Given the description of an element on the screen output the (x, y) to click on. 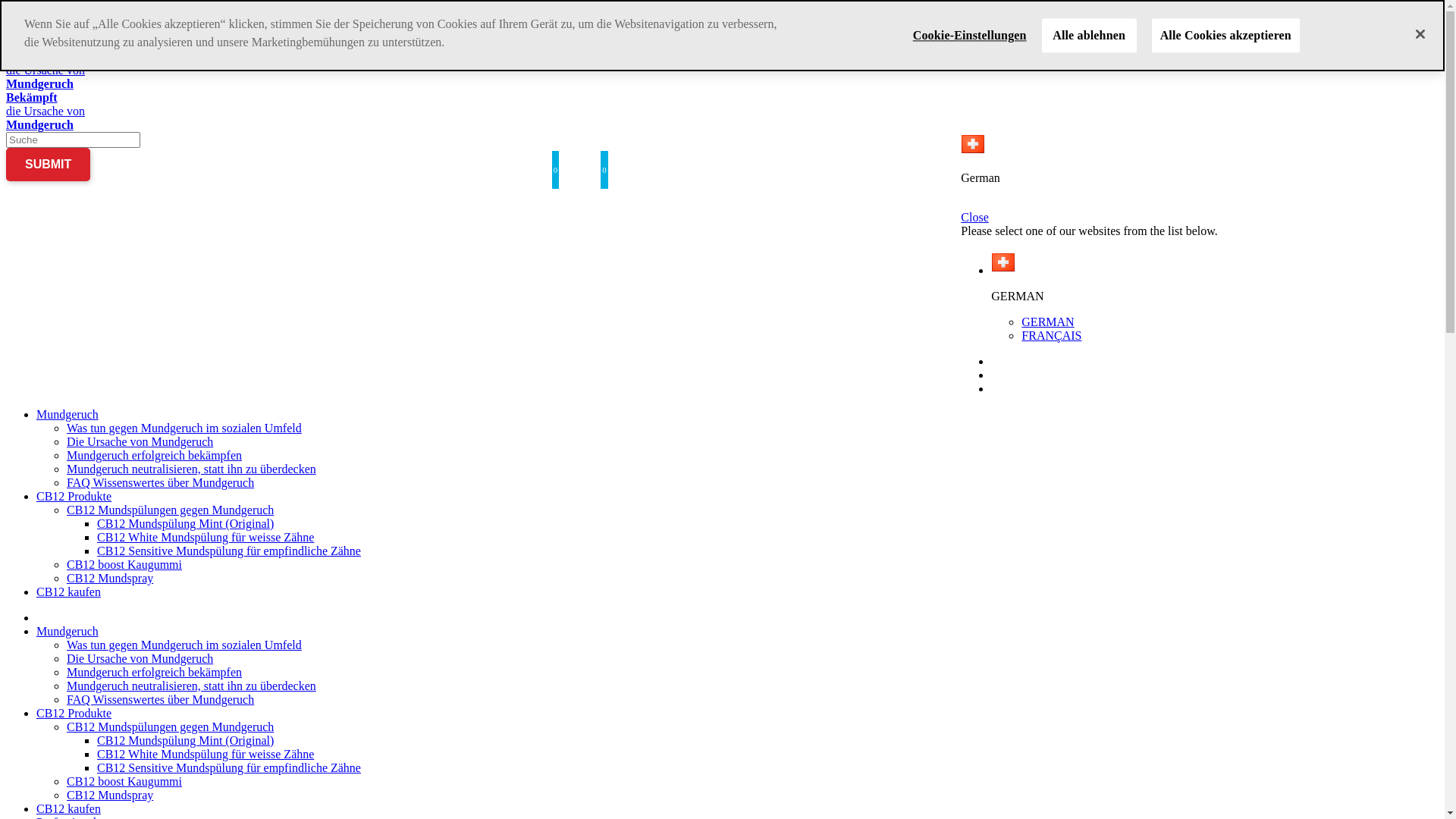
CB12 Produkte Element type: text (73, 495)
CB12 boost Kaugummi Element type: text (124, 564)
CB12 kaufen Element type: text (68, 591)
CB12 Mundspray Element type: text (109, 577)
Close Element type: text (1199, 217)
GERMAN Element type: text (1047, 321)
Die Ursache von Mundgeruch Element type: text (139, 658)
CB12 kaufen Element type: text (68, 808)
Alle Cookies akzeptieren Element type: text (1225, 35)
Alle ablehnen Element type: text (1088, 35)
Mundgeruch Element type: text (67, 413)
Cookie-Einstellungen Element type: text (969, 34)
Was tun gegen Mundgeruch im sozialen Umfeld Element type: text (183, 427)
CB12 Produkte Element type: text (73, 712)
CB12 Mundspray Element type: text (109, 794)
Was tun gegen Mundgeruch im sozialen Umfeld Element type: text (183, 644)
Mundgeruch Element type: text (67, 630)
Die Ursache von Mundgeruch Element type: text (139, 441)
CB12 boost Kaugummi Element type: text (124, 781)
